Given the description of an element on the screen output the (x, y) to click on. 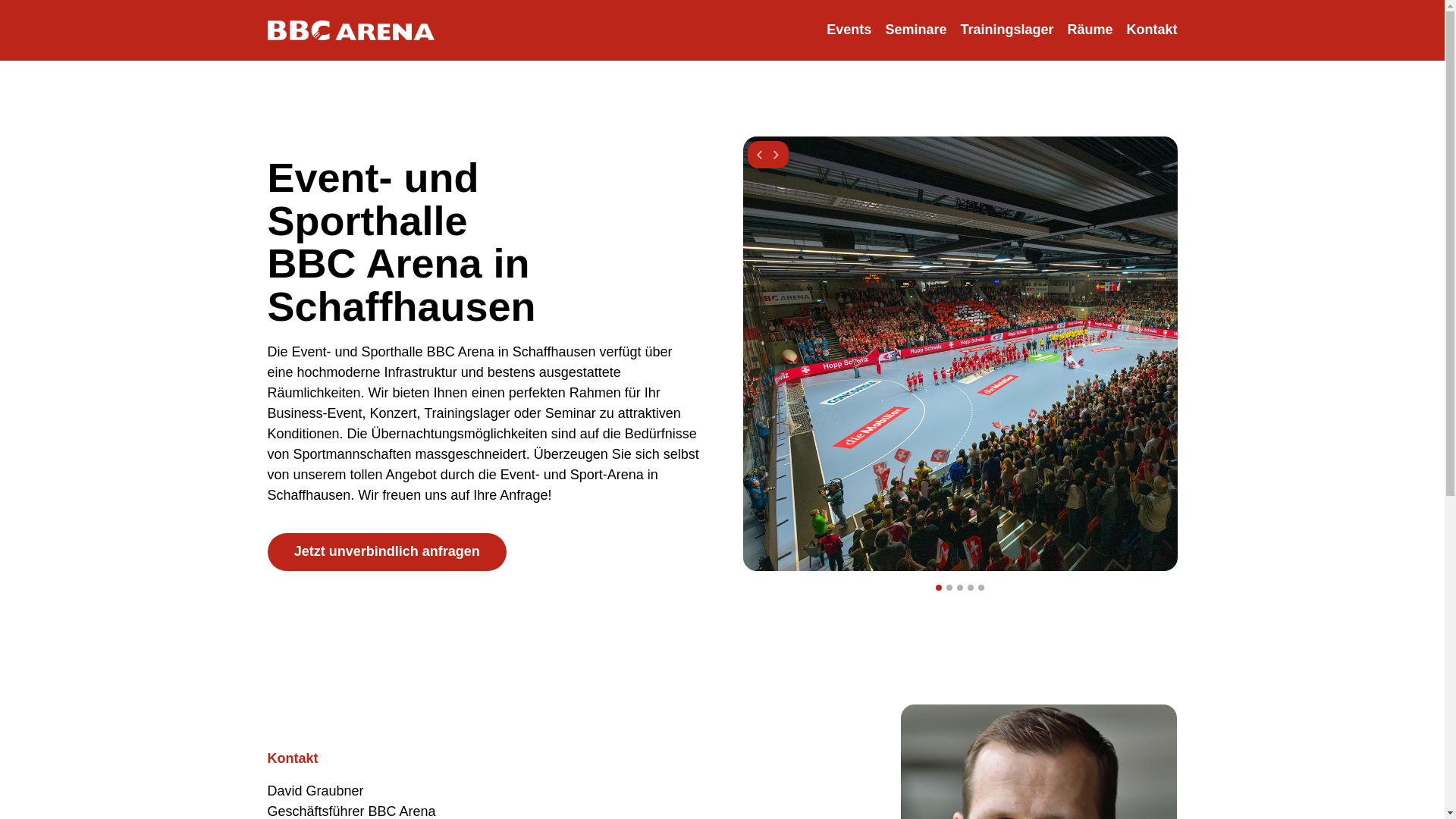
Jetzt unverbindlich anfragen Element type: text (385, 552)
Kontakt Element type: text (1151, 29)
Seminare Element type: text (915, 29)
Trainingslager Element type: text (1006, 29)
Events Element type: text (848, 29)
